Given the description of an element on the screen output the (x, y) to click on. 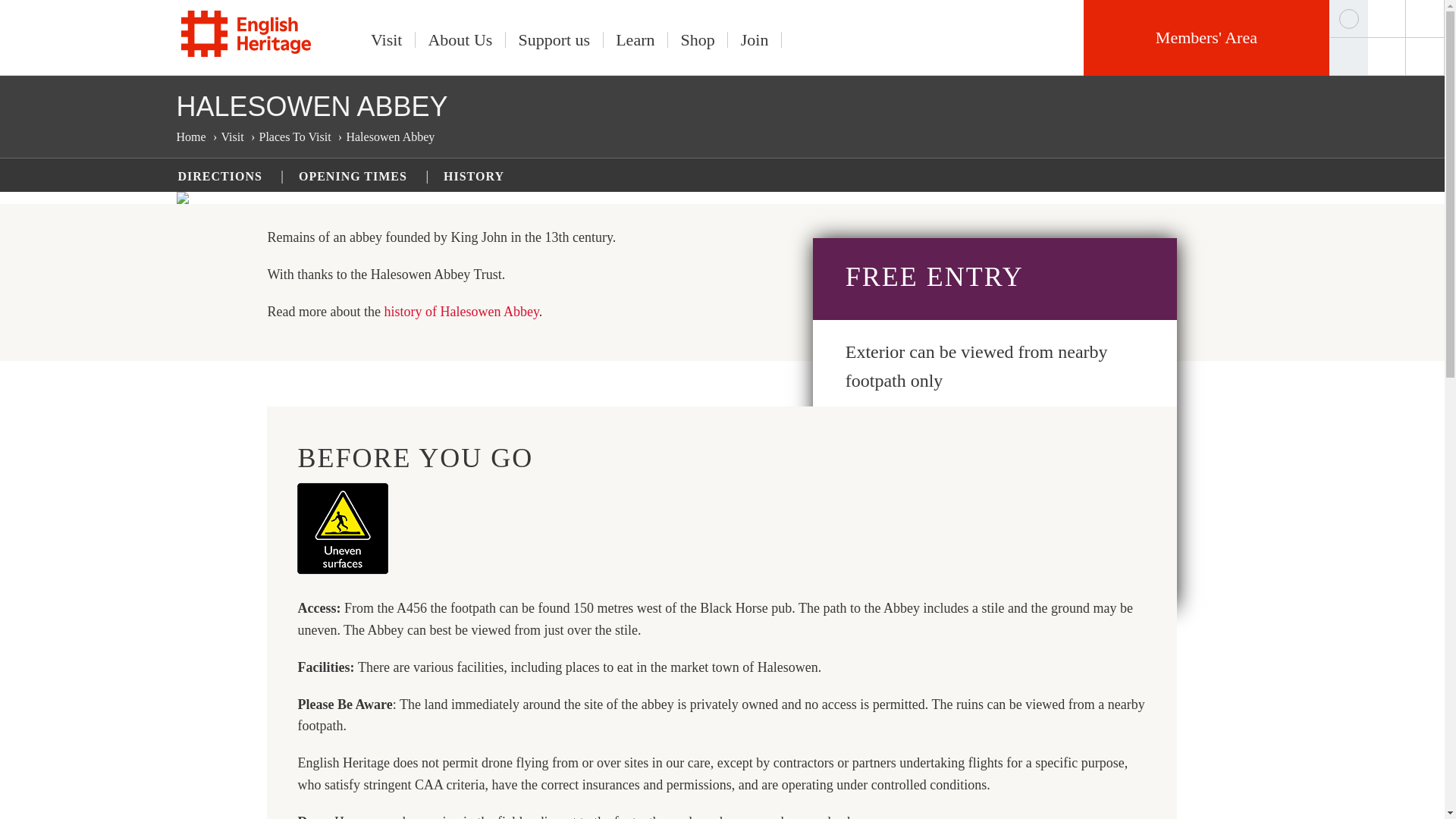
History (461, 311)
ENGLISH HERITAGE (245, 33)
BEFORE YOU GO (929, 539)
Visit (386, 39)
